Given the description of an element on the screen output the (x, y) to click on. 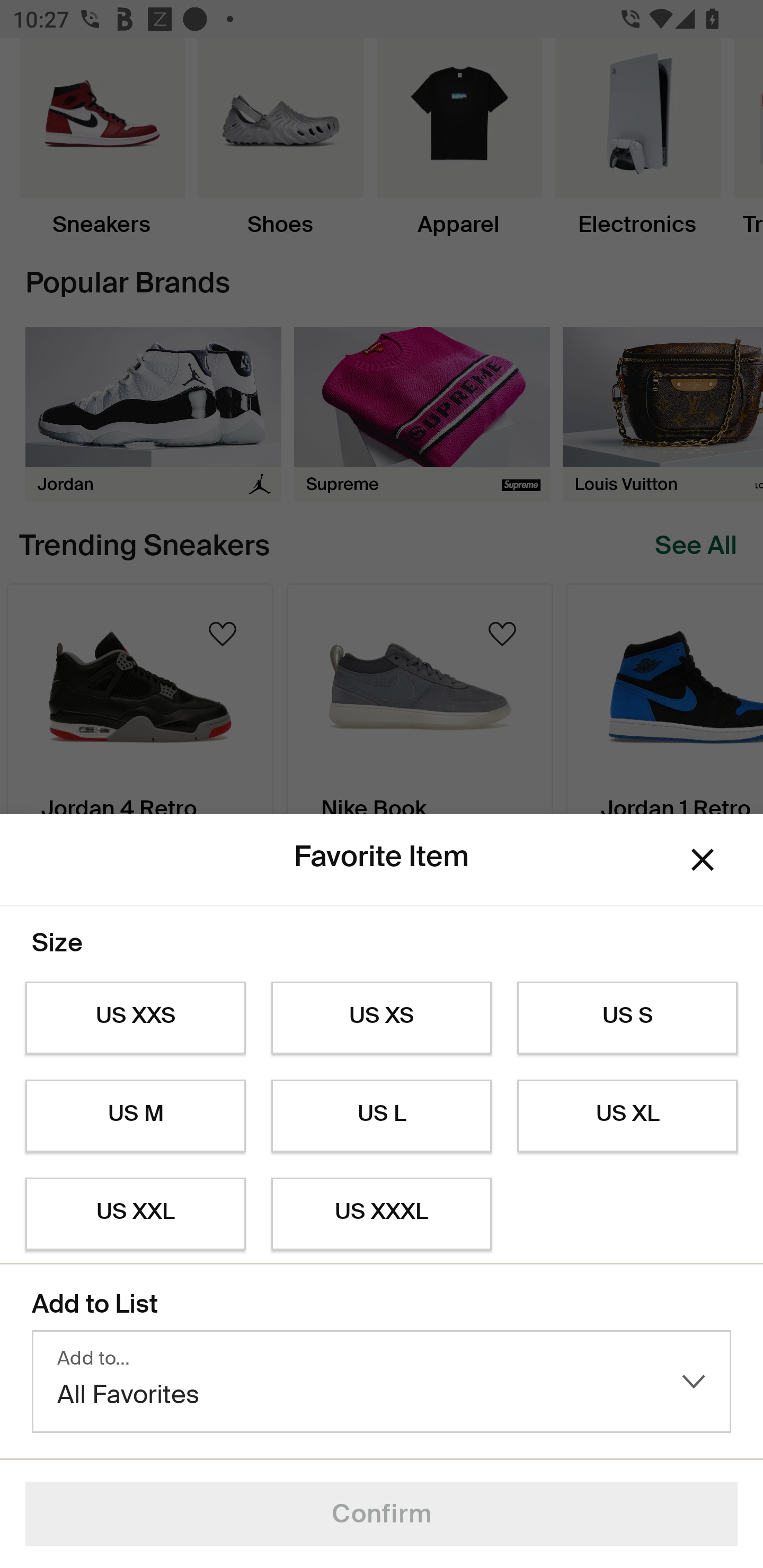
Dismiss (702, 859)
US XXS (135, 1018)
US XS (381, 1018)
US S (627, 1018)
US M (135, 1116)
US L (381, 1116)
US XL (627, 1116)
US XXL (135, 1214)
US XXXL (381, 1214)
Add to… All Favorites (381, 1381)
Confirm (381, 1513)
